Given the description of an element on the screen output the (x, y) to click on. 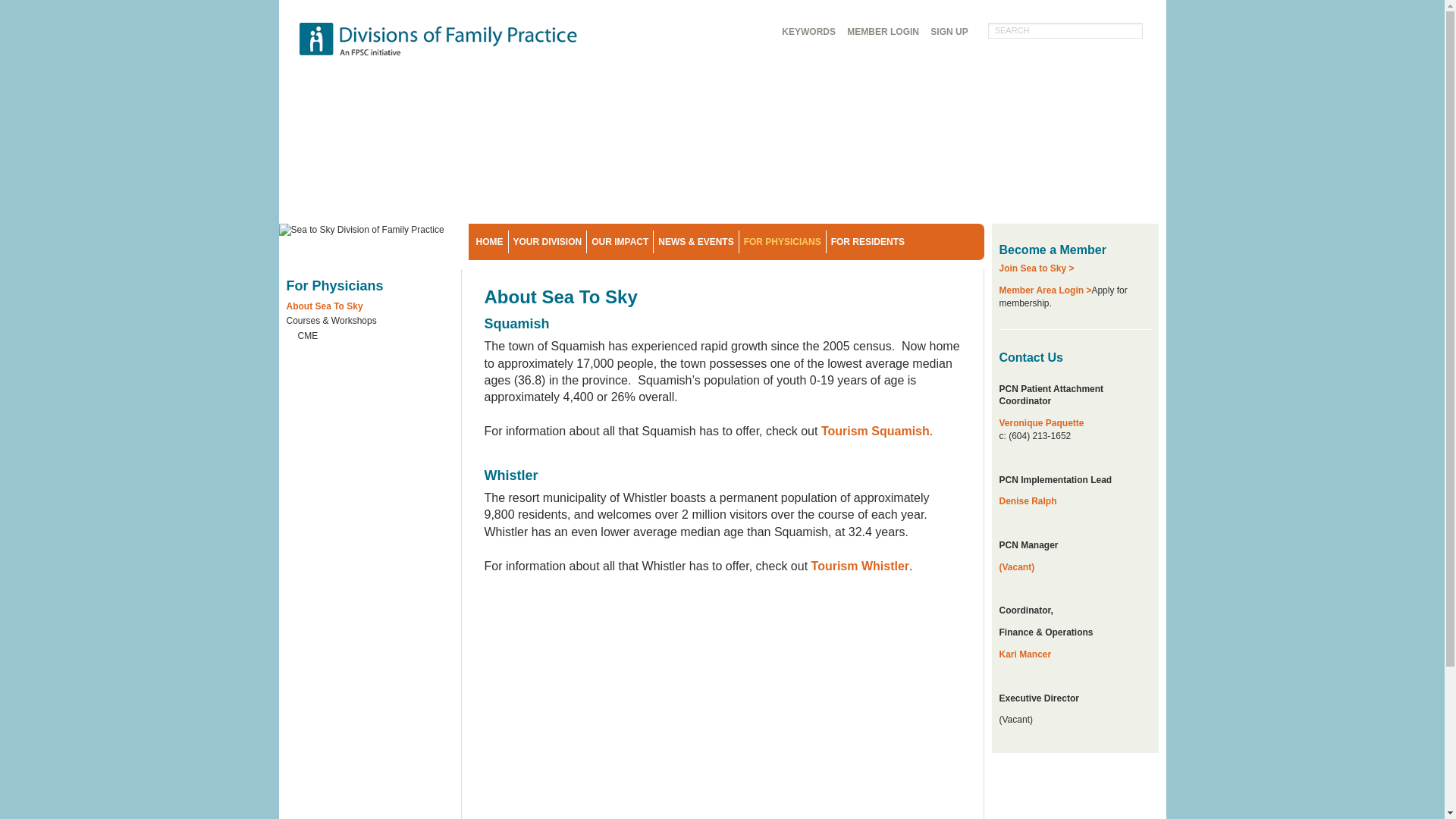
MEMBER LOGIN (883, 31)
FOR PHYSICIANS (783, 241)
Tourism Squamish (875, 431)
KEYWORDS (808, 31)
CME (374, 337)
YOUR DIVISION (547, 241)
SIGN UP (949, 31)
 Tourism Whistler (858, 565)
About Sea To Sky (369, 308)
